Given the description of an element on the screen output the (x, y) to click on. 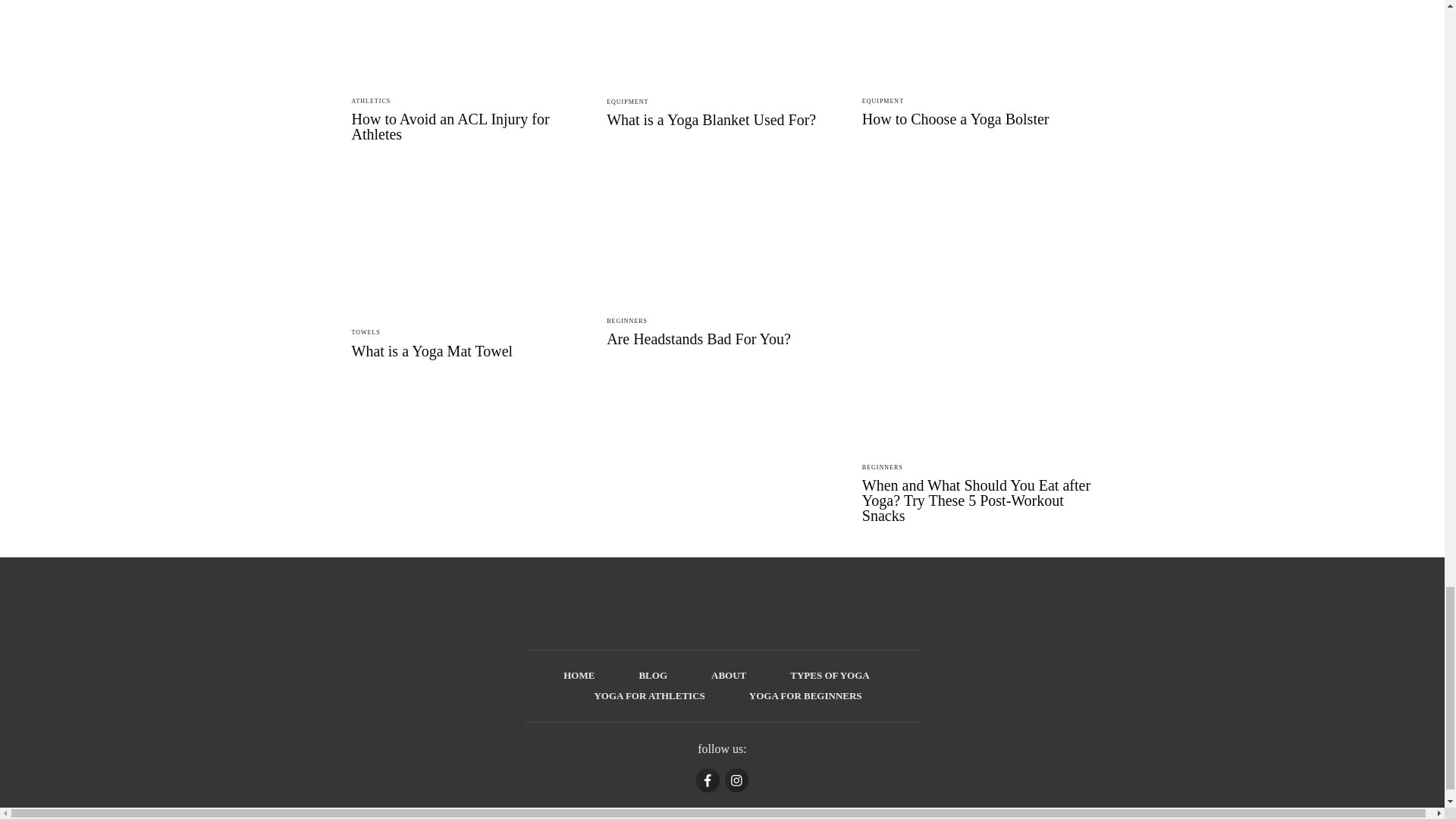
BEGINNERS (627, 320)
YOGA FOR BEGINNERS (805, 695)
TOWELS (366, 332)
YOGA FOR ATHLETICS (649, 695)
TYPES OF YOGA (829, 675)
EQUIPMENT (882, 100)
BLOG (652, 675)
HOME (578, 675)
ABOUT (728, 675)
EQUIPMENT (627, 101)
